Given the description of an element on the screen output the (x, y) to click on. 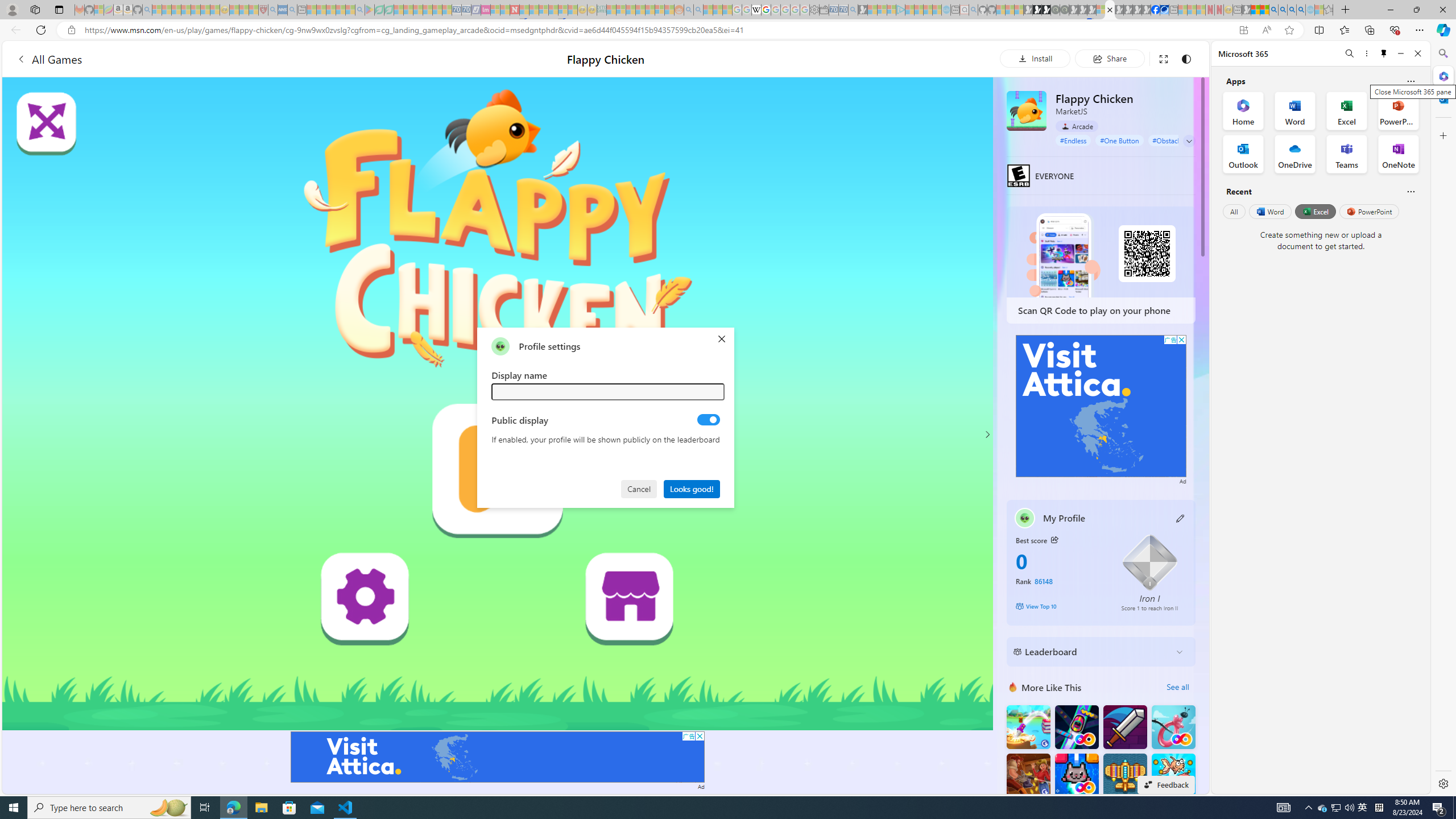
Class: text-input (608, 391)
Play Zoo Boom in your browser | Games from Microsoft Start (1036, 9)
Advertisement (1101, 405)
Word Office App (1295, 110)
